Given the description of an element on the screen output the (x, y) to click on. 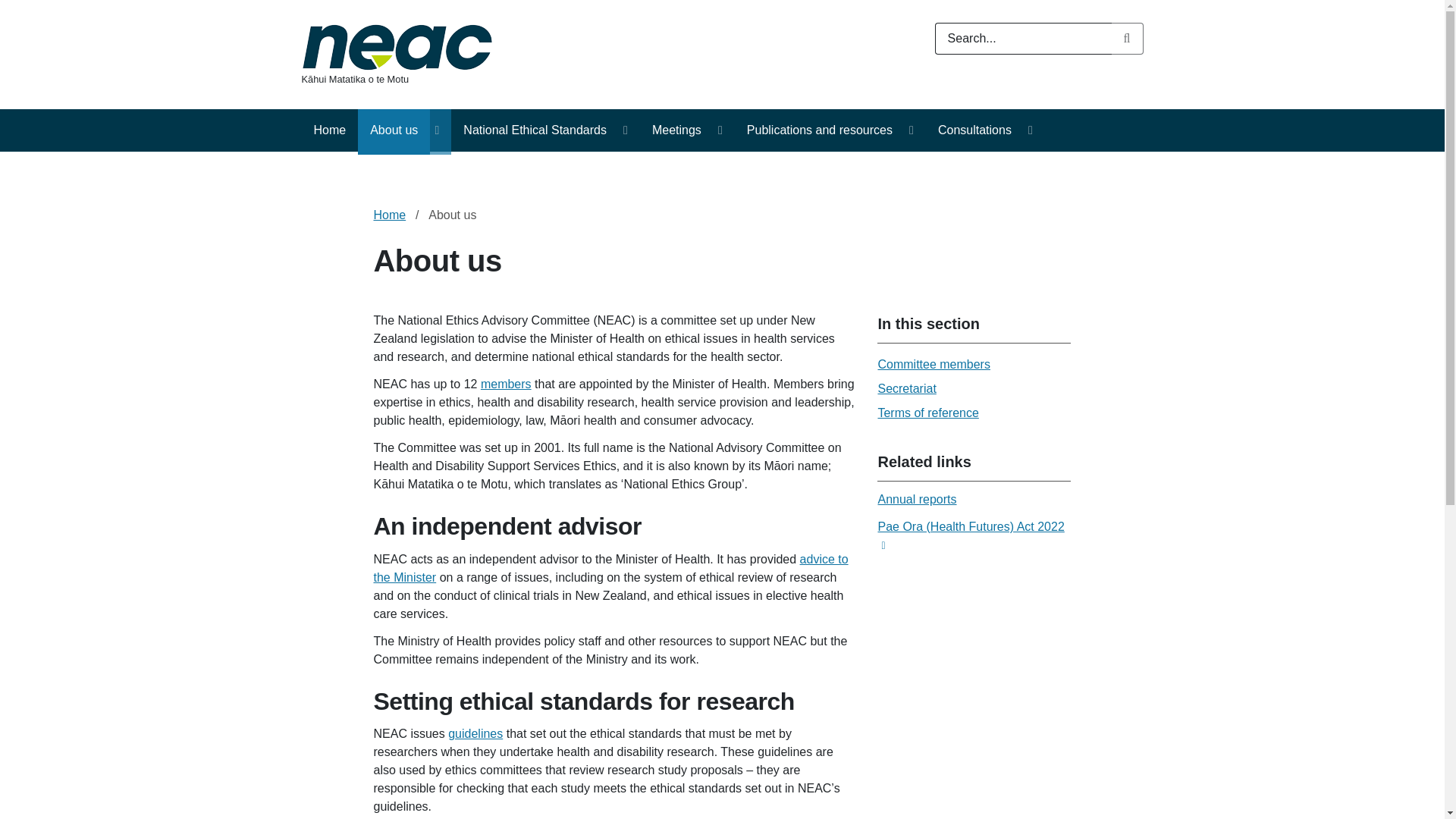
Go to Home Page (397, 46)
About us (393, 131)
Meetings (676, 131)
Home (389, 214)
advice to the Minister (609, 567)
Consultations (974, 131)
Search (1127, 38)
guidelines (475, 733)
National Ethical Standards (534, 131)
Home (329, 131)
